Given the description of an element on the screen output the (x, y) to click on. 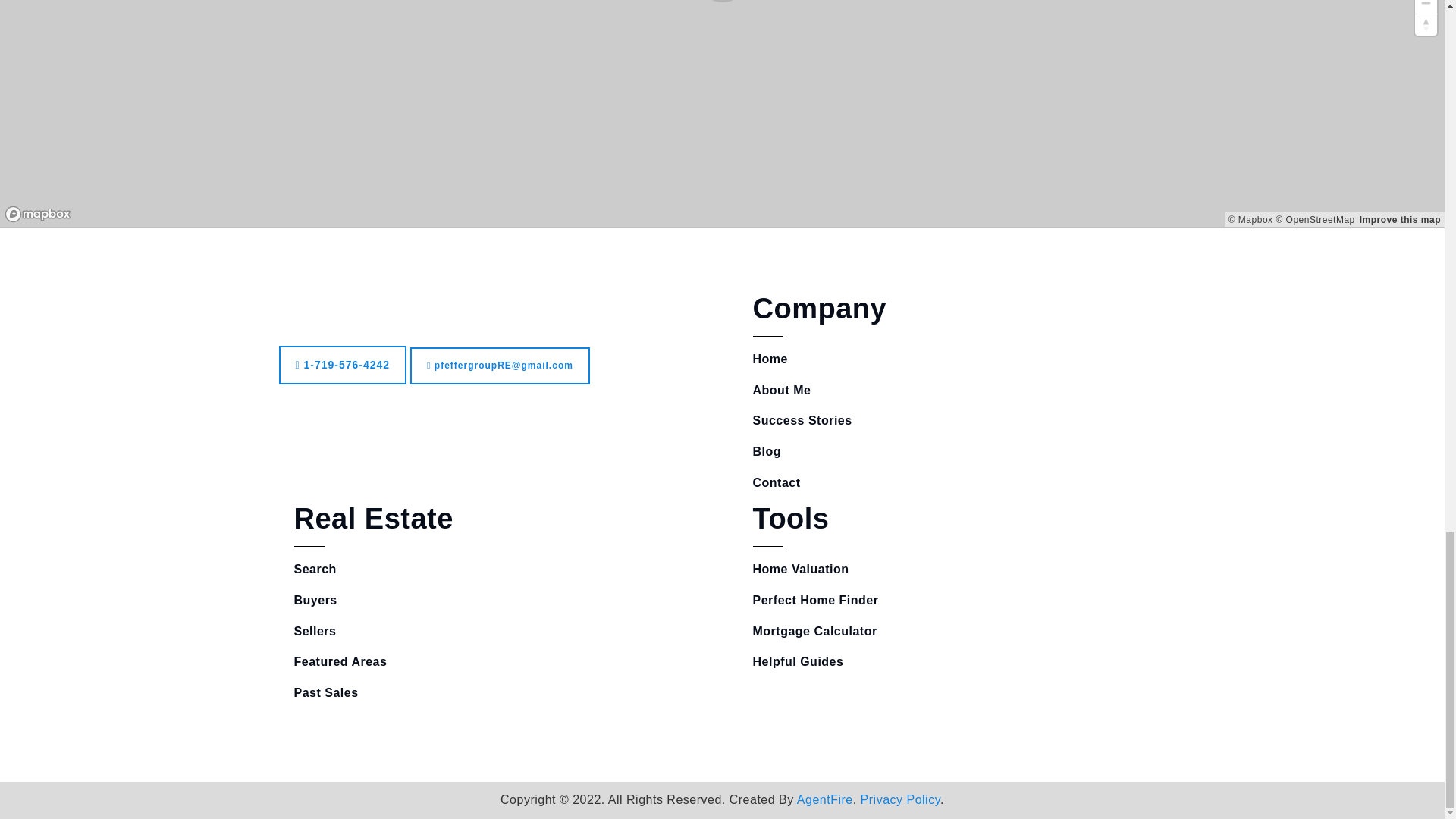
Improve this map (1400, 219)
Zoom out (1426, 6)
Reset bearing to north (1426, 24)
Read our privacy policy (900, 799)
Mapbox (1250, 219)
OpenStreetMap (1314, 219)
